Given the description of an element on the screen output the (x, y) to click on. 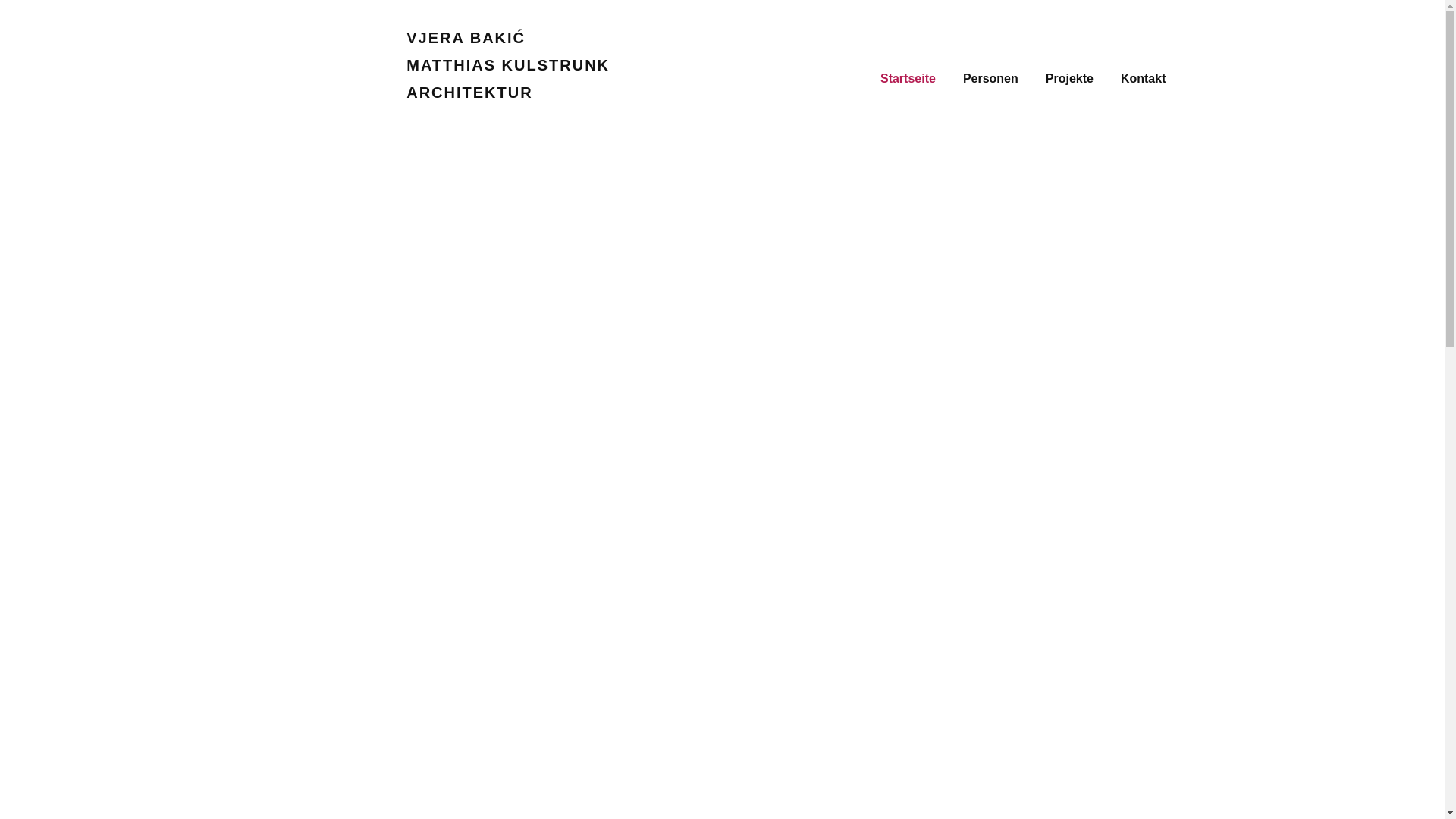
Kontakt Element type: text (1143, 78)
Projekte Element type: text (1069, 78)
Personen Element type: text (990, 78)
Startseite Element type: text (907, 78)
